Given the description of an element on the screen output the (x, y) to click on. 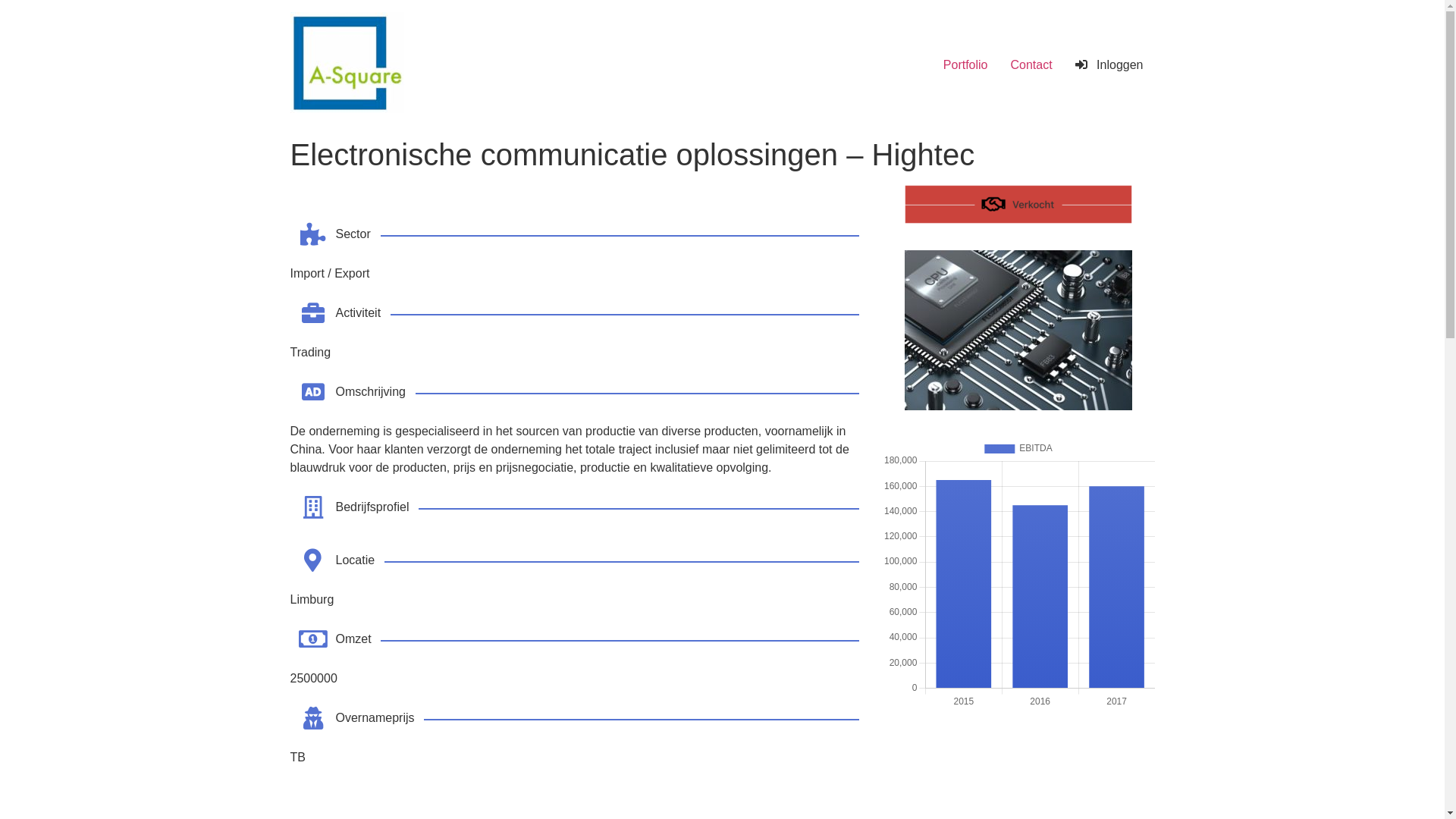
d1dd8f27-c141-33ac-586f-3cbe076c2361 Element type: hover (1017, 330)
Portfolio Element type: text (965, 65)
Inloggen Element type: text (1108, 65)
Contact Element type: text (1031, 65)
